Given the description of an element on the screen output the (x, y) to click on. 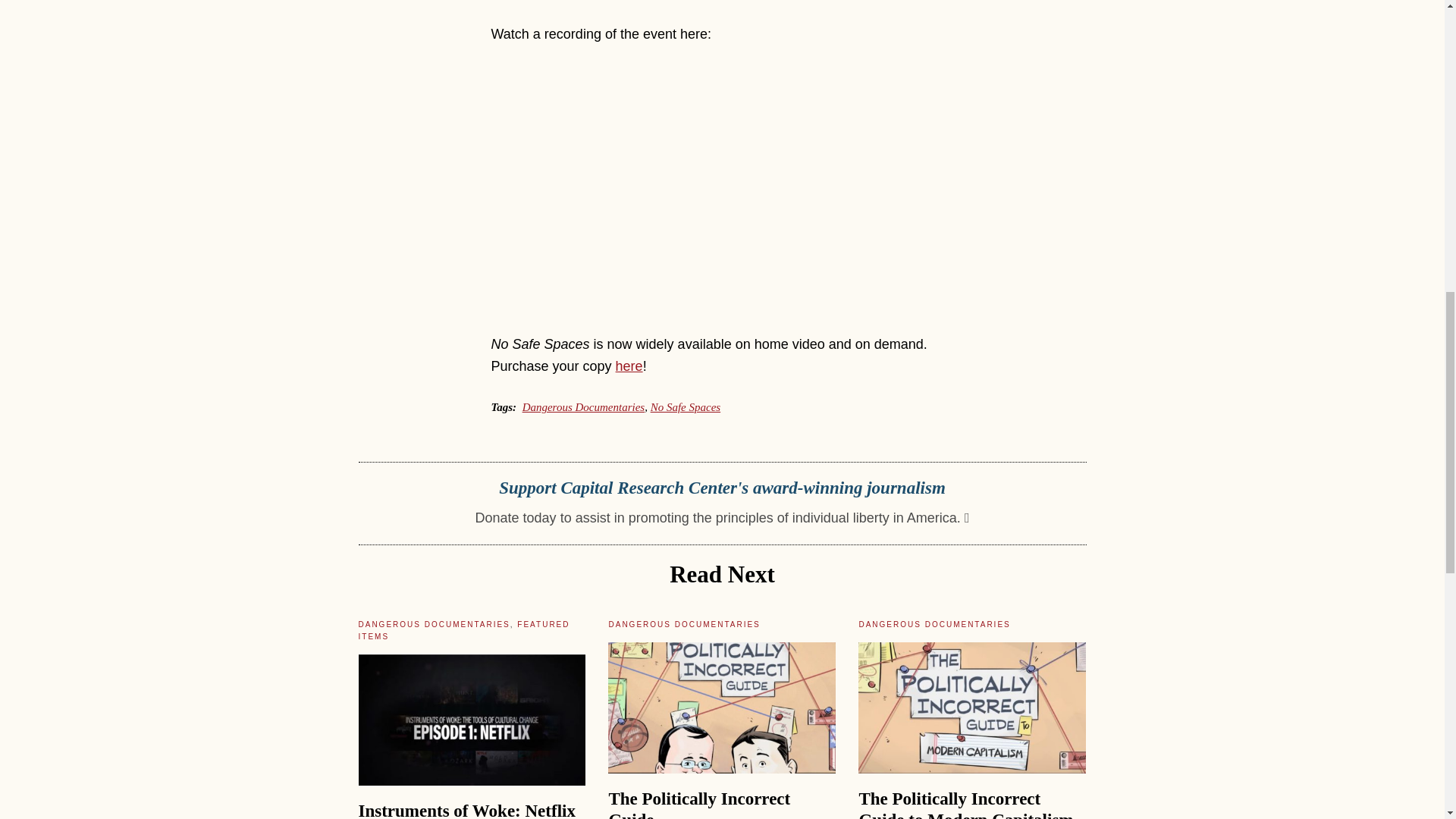
The Politically Incorrect Guide to Modern Capitalism (966, 804)
No Safe Spaces (685, 407)
DANGEROUS DOCUMENTARIES (934, 623)
DANGEROUS DOCUMENTARIES (684, 623)
FEATURED ITEMS (463, 629)
Instruments of Woke: Netflix (466, 810)
Dangerous Documentaries (583, 407)
DANGEROUS DOCUMENTARIES (433, 623)
here (629, 365)
The Politically Incorrect Guide (699, 804)
